Given the description of an element on the screen output the (x, y) to click on. 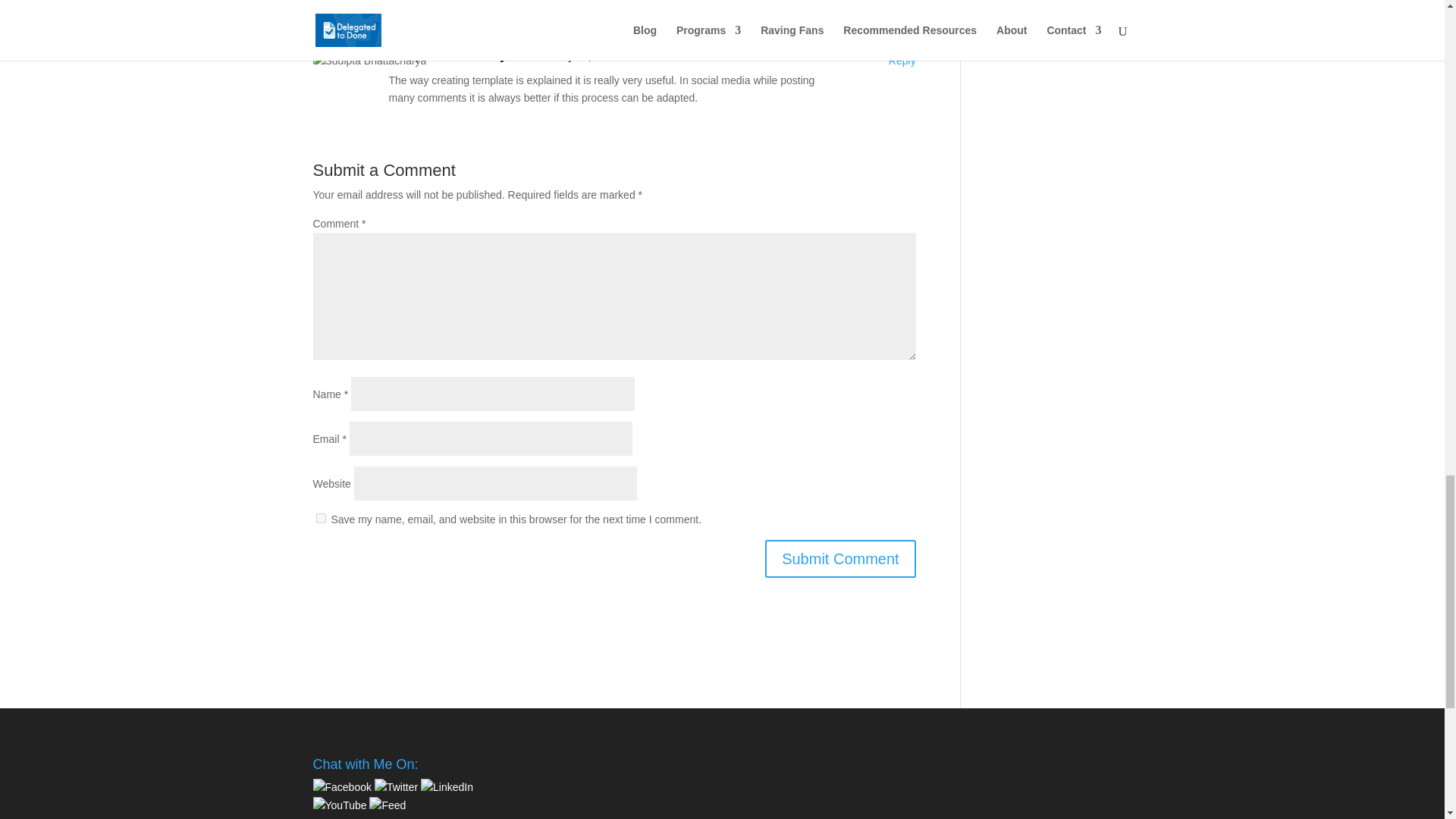
yes (319, 518)
Submit Comment (840, 558)
Submit Comment (840, 558)
Reply (901, 61)
